Given the description of an element on the screen output the (x, y) to click on. 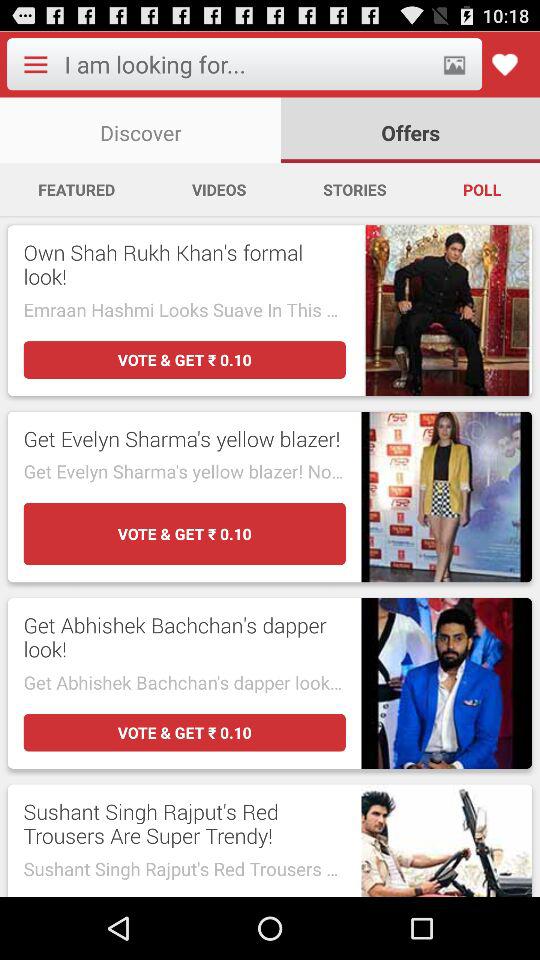
add to favorites (504, 64)
